Given the description of an element on the screen output the (x, y) to click on. 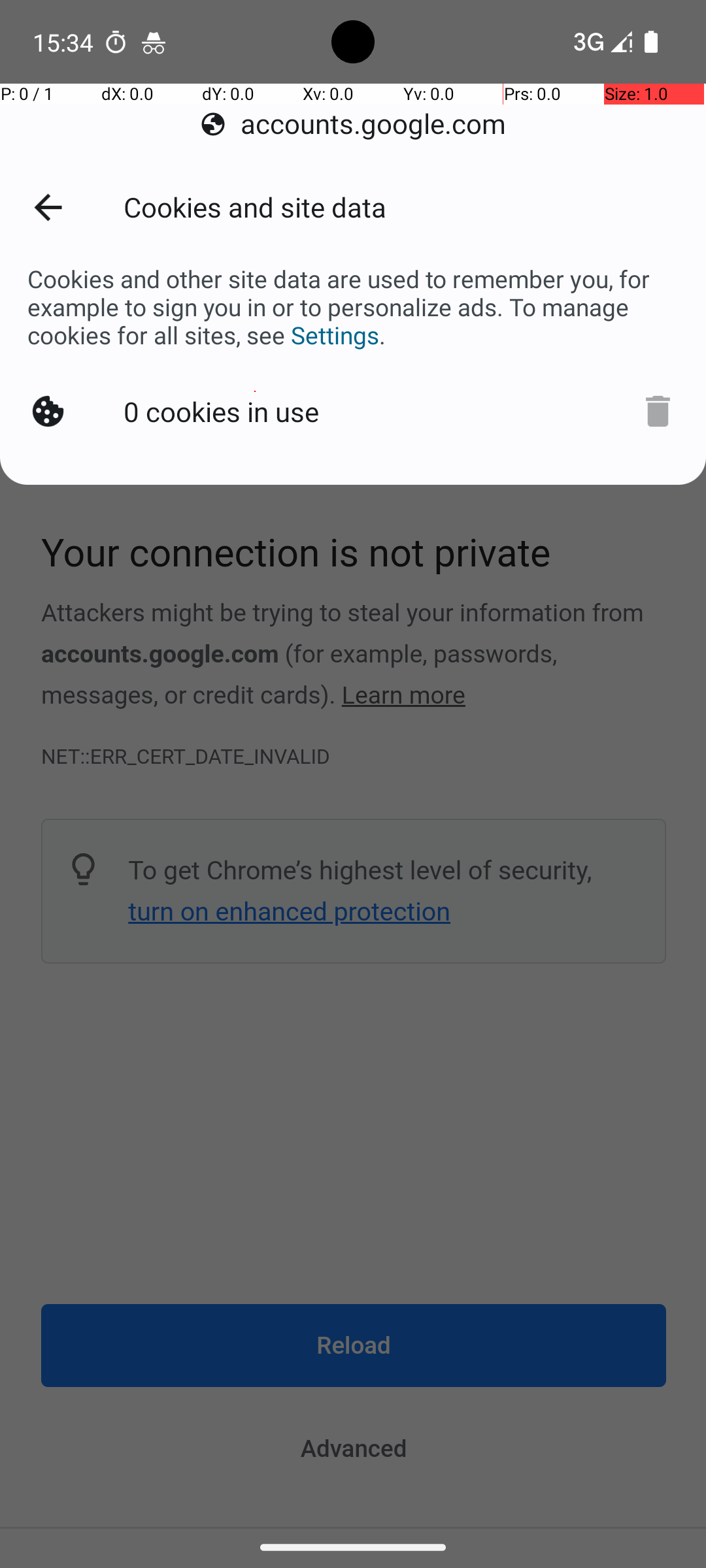
accounts.google.com Element type: android.widget.TextView (352, 124)
Cookies and other site data are used to remember you, for example to sign you in or to personalize ads. To manage cookies for all sites, see Settings. Element type: android.widget.TextView (352, 306)
0 cookies in use Element type: android.widget.TextView (223, 408)
Delete cookies? Element type: android.widget.ImageView (650, 408)
